Given the description of an element on the screen output the (x, y) to click on. 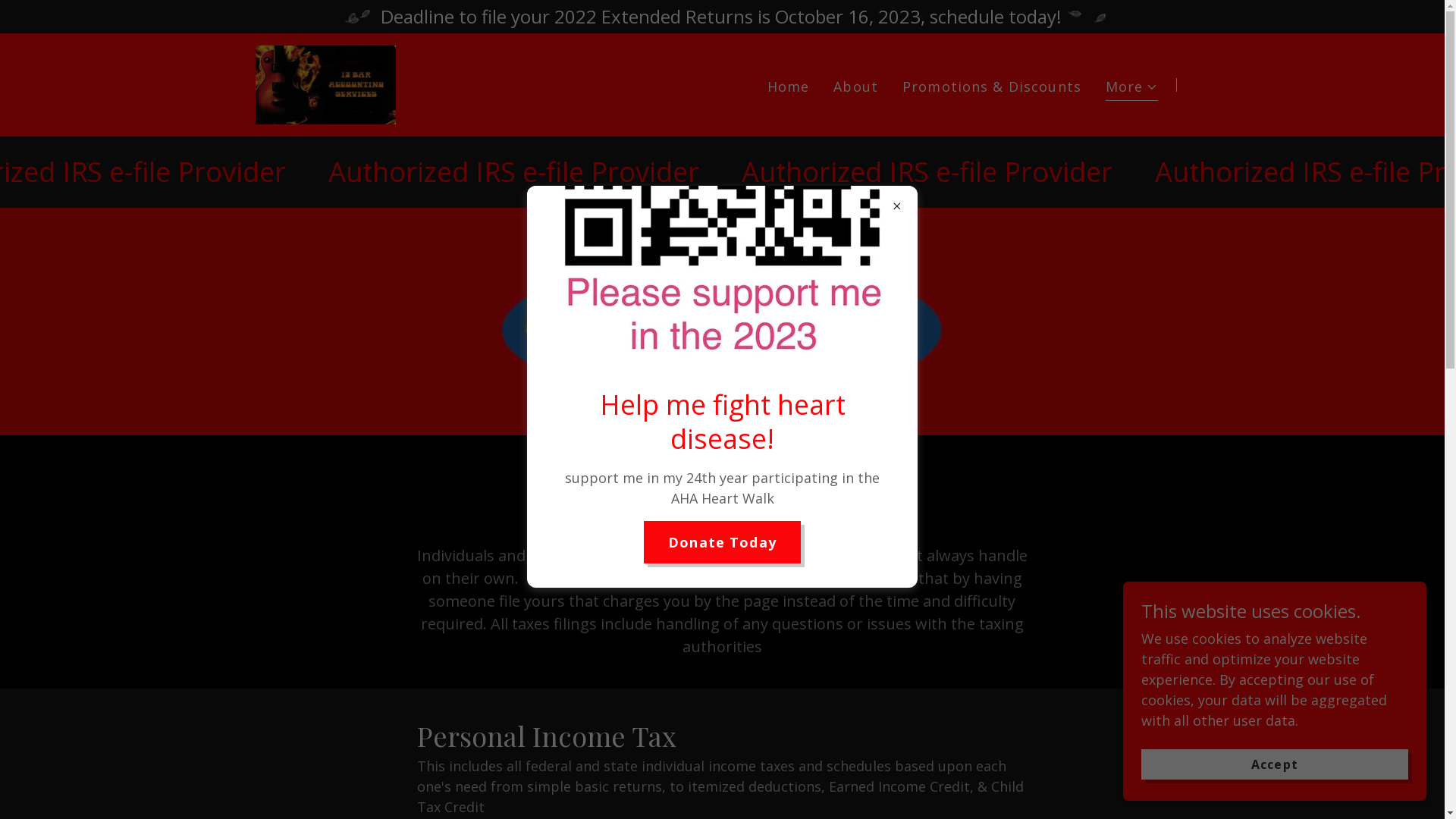
More Element type: text (1131, 88)
Home Element type: text (788, 86)
12 Bar Accounting Services Element type: hover (324, 83)
Promotions & Discounts Element type: text (991, 86)
Accept Element type: text (1274, 764)
About Element type: text (855, 86)
Donate Today Element type: text (721, 541)
